Given the description of an element on the screen output the (x, y) to click on. 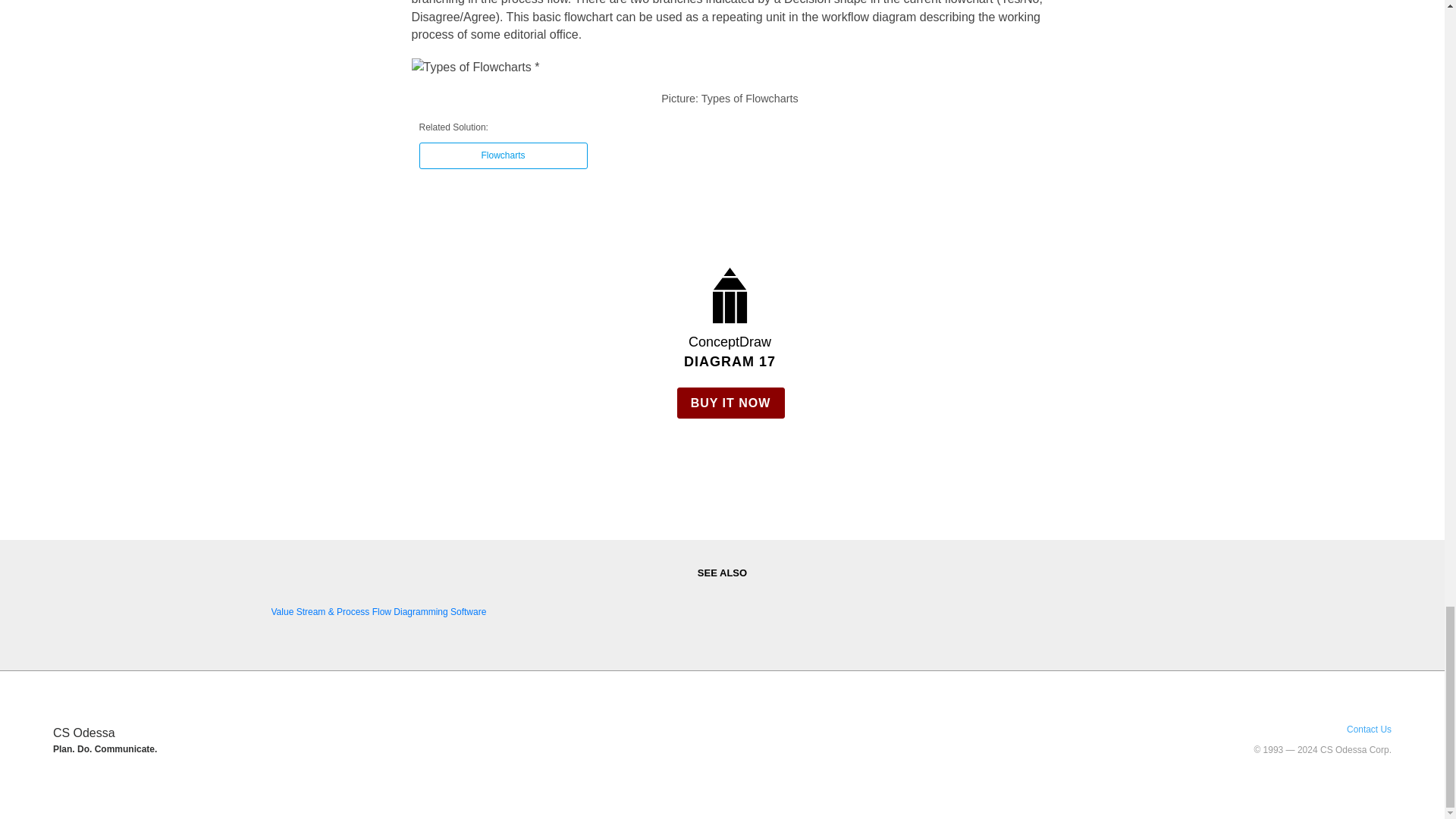
Contact Us (1368, 728)
BUY IT NOW (730, 402)
Flowcharts (502, 155)
